Given the description of an element on the screen output the (x, y) to click on. 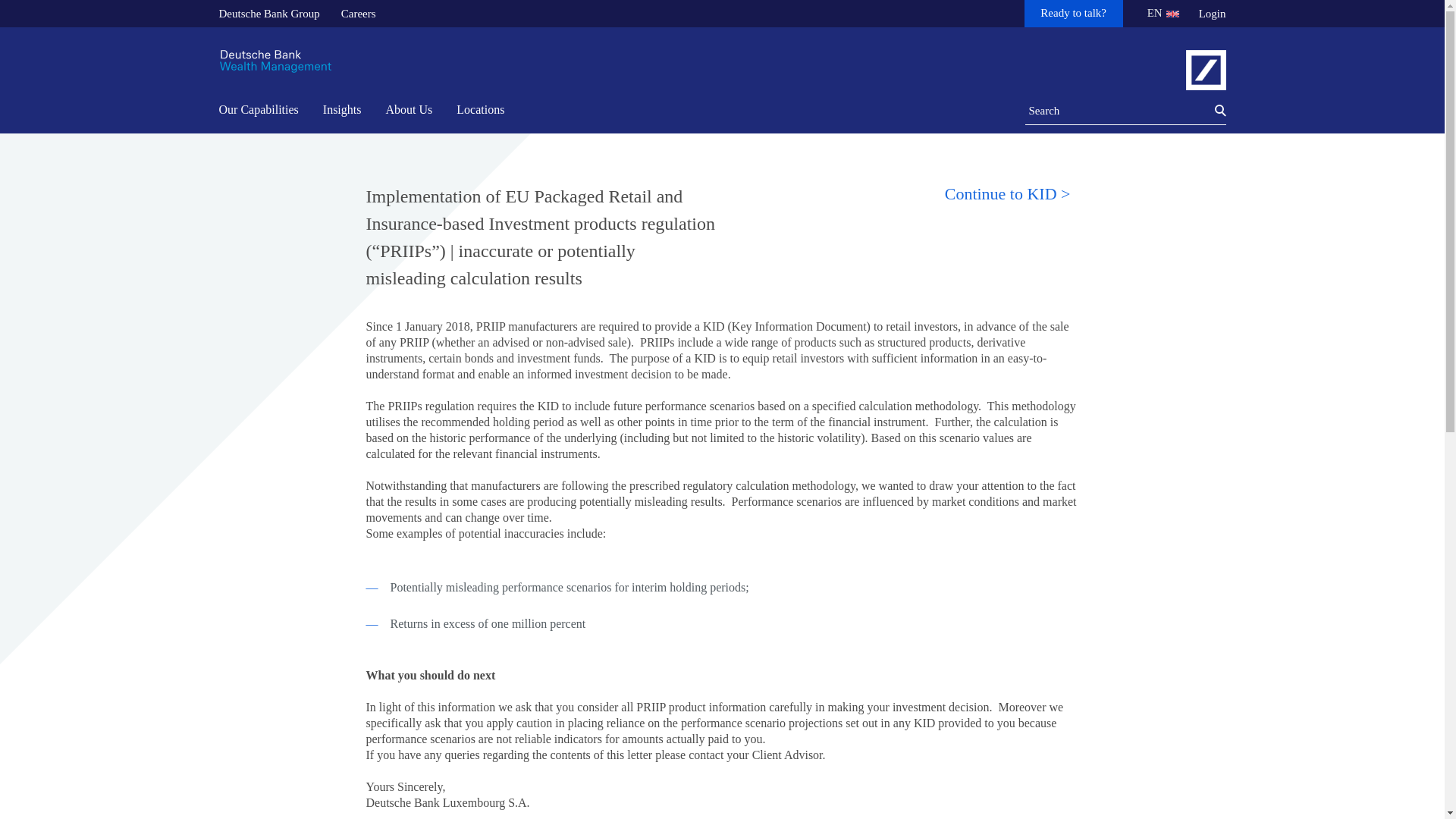
Login (1211, 14)
Deutsche Bank Group (269, 13)
Careers (358, 13)
Our Capabilities (261, 110)
EN (1159, 13)
submit (1211, 110)
Ready to talk? (1073, 13)
submit (1211, 110)
